Given the description of an element on the screen output the (x, y) to click on. 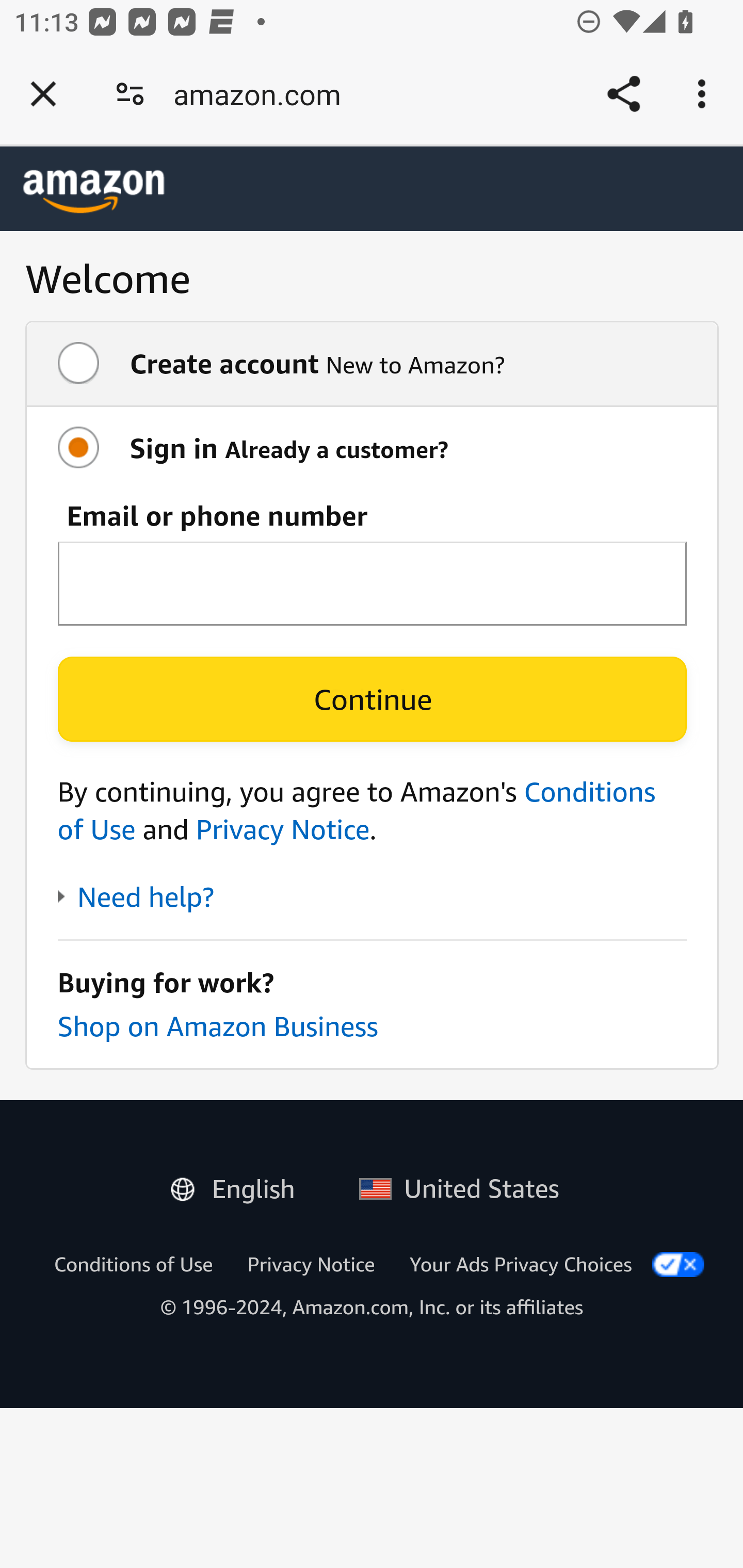
Close tab (43, 93)
Share (623, 93)
Customize and control Google Chrome (705, 93)
Connection is secure (129, 93)
amazon.com (264, 93)
Amazon (94, 191)
Create account New to Amazon? (371, 363)
Continue (371, 698)
Conditions of Use (356, 810)
Privacy Notice (282, 829)
Need help? (134, 897)
Shop on Amazon Business (216, 1025)
Choose a language for shopping. English (239, 1185)
Conditions of Use (132, 1263)
Privacy Notice (310, 1263)
Your Ads Privacy Choices (520, 1263)
